Given the description of an element on the screen output the (x, y) to click on. 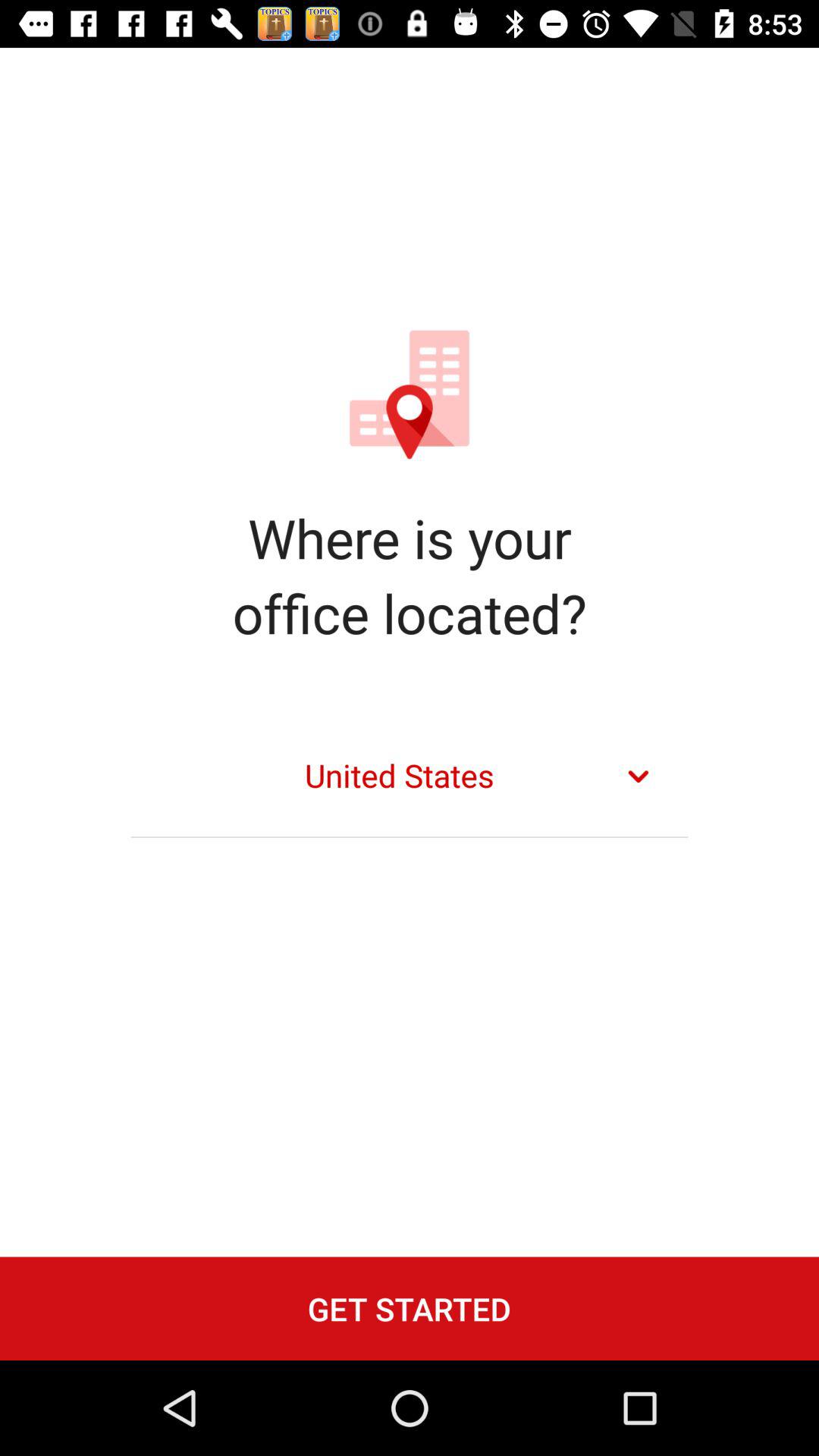
launch the get started icon (409, 1308)
